Given the description of an element on the screen output the (x, y) to click on. 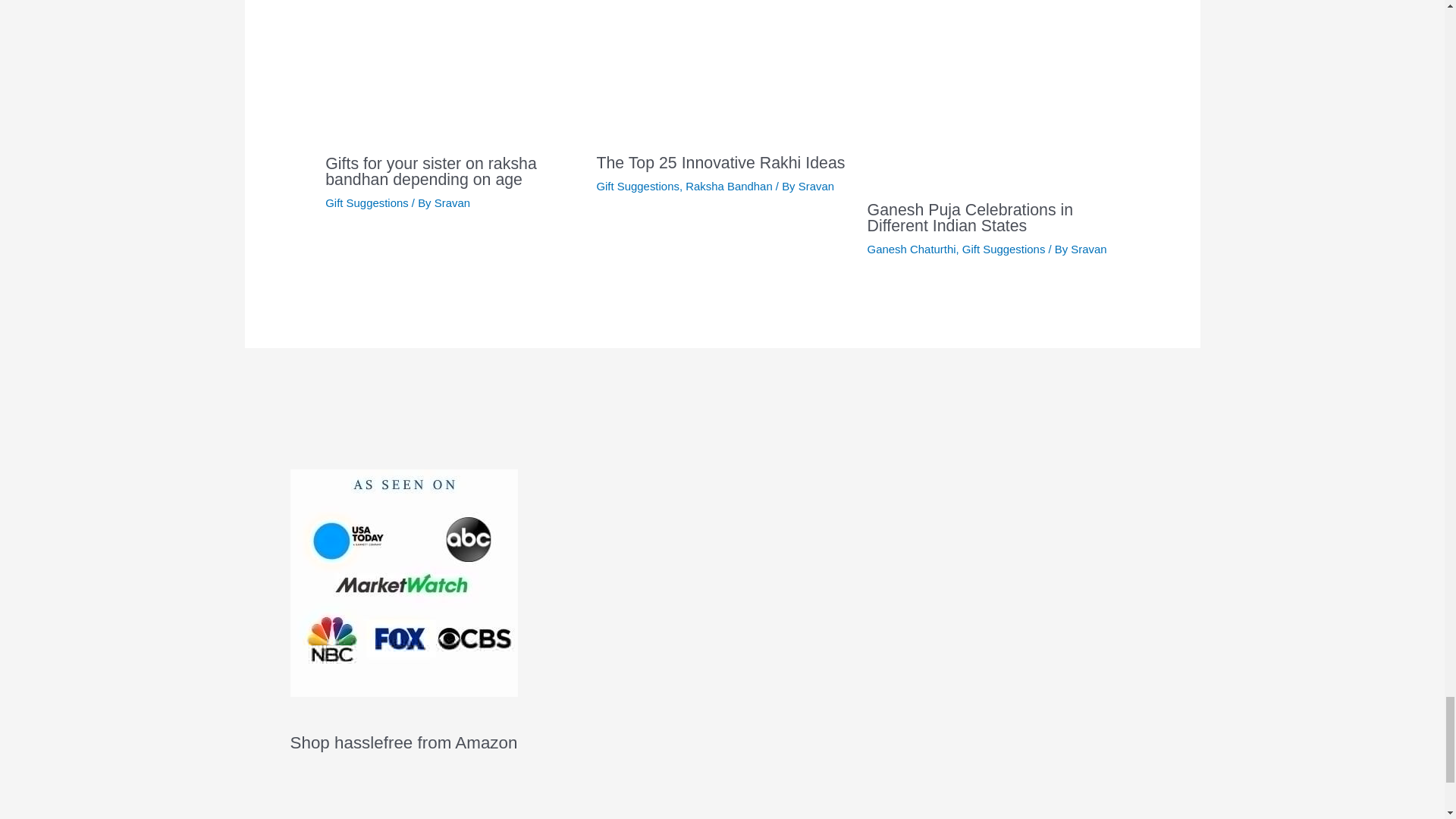
View all posts by Sravan (451, 202)
View all posts by Sravan (1088, 248)
View all posts by Sravan (815, 185)
